Given the description of an element on the screen output the (x, y) to click on. 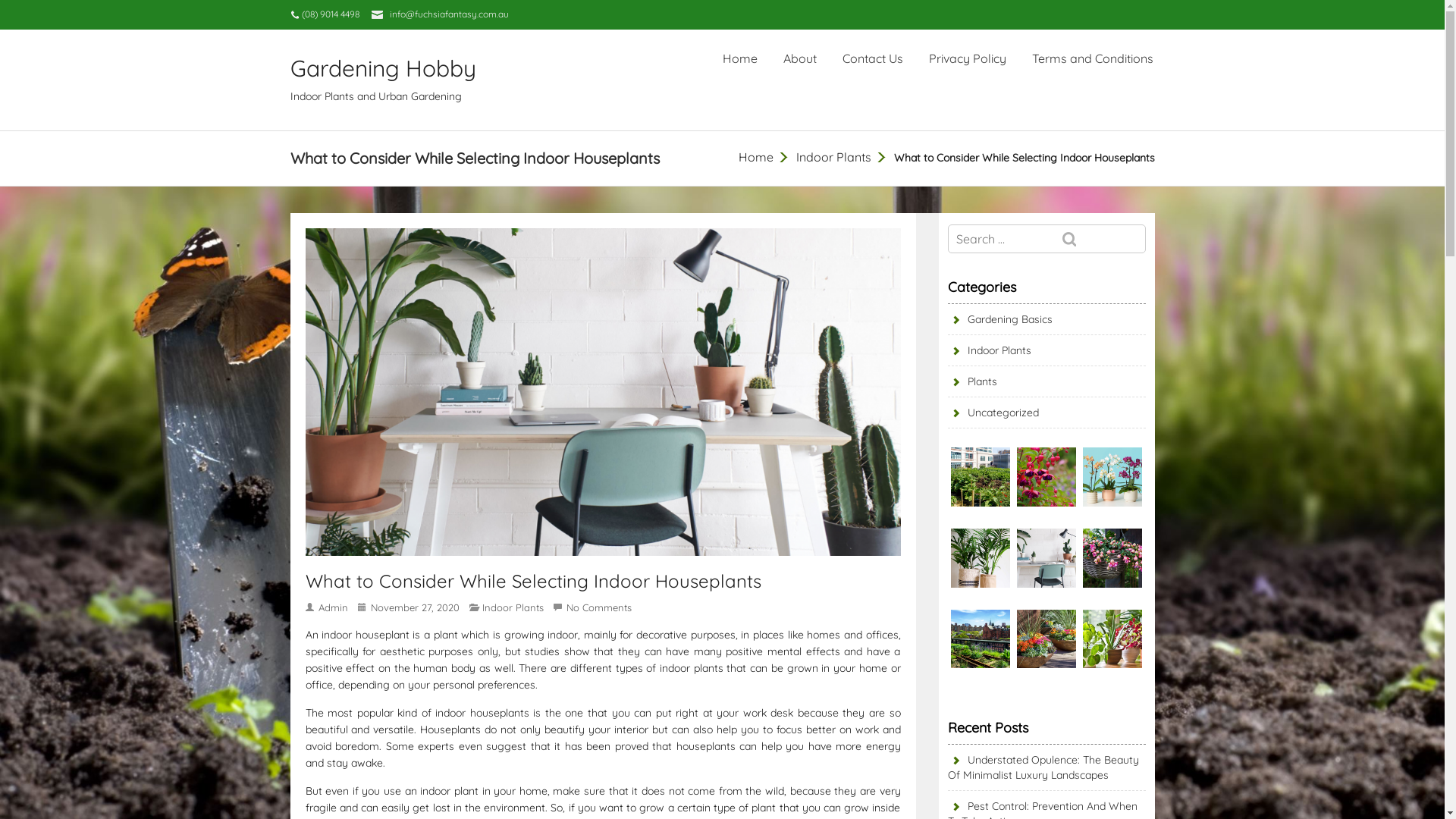
Gardening Basics Element type: text (999, 319)
info@fuchsiafantasy.com.au Element type: text (448, 13)
Privacy Policy Element type: text (966, 58)
Terms and Conditions Element type: text (1091, 58)
Uncategorized Element type: text (992, 412)
Gardening Hobby Element type: text (389, 68)
Home Element type: text (739, 58)
Plants Element type: text (972, 381)
Indoor Plants Element type: text (514, 607)
indoor houseplants Element type: text (482, 712)
Admin Element type: text (334, 607)
Contact Us Element type: text (871, 58)
Search Element type: text (1099, 239)
Home Element type: text (755, 156)
About Element type: text (799, 58)
Indoor Plants Element type: text (989, 350)
Indoor Plants Element type: text (833, 156)
November 27, 2020 Element type: text (415, 607)
